Given the description of an element on the screen output the (x, y) to click on. 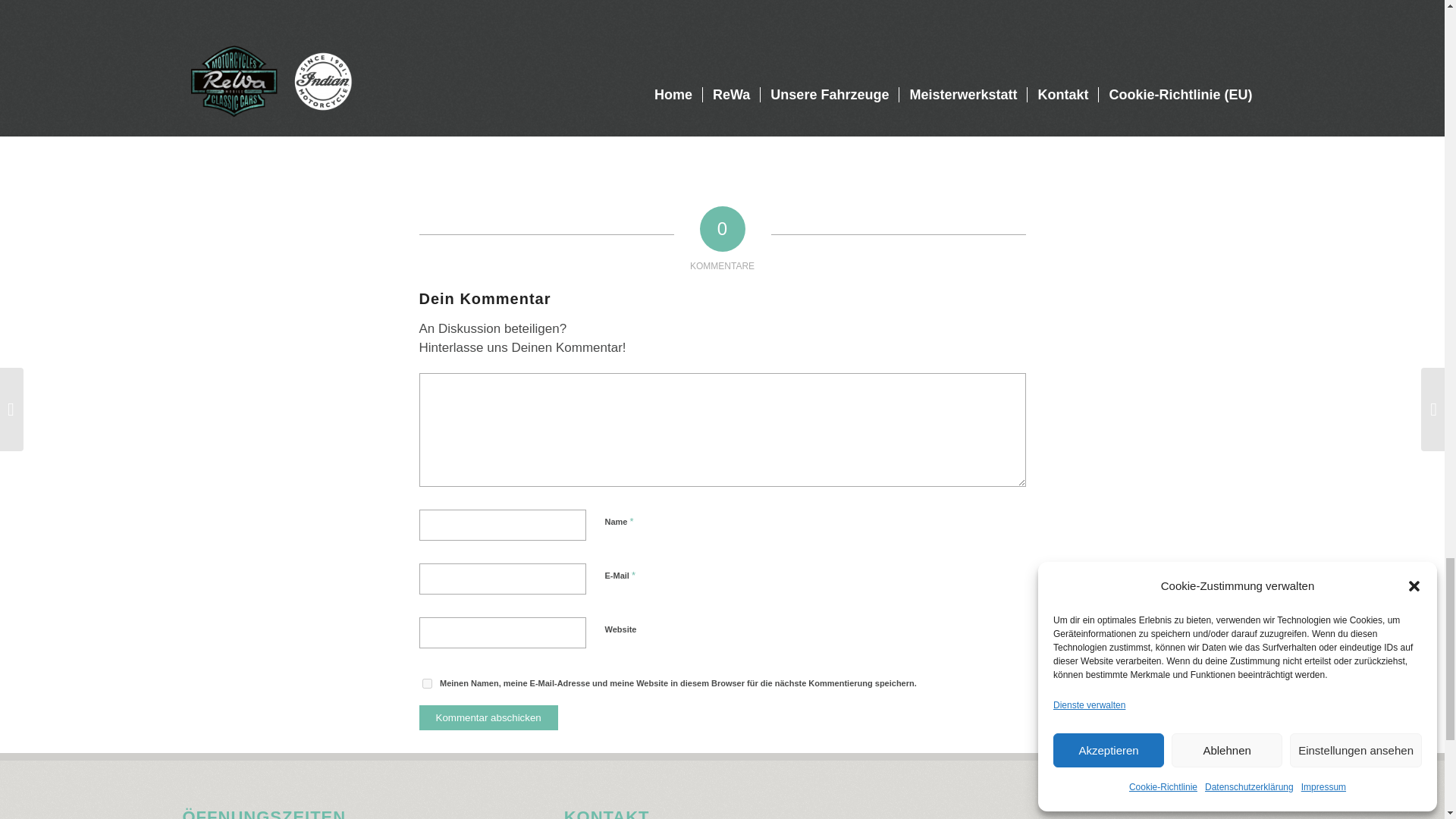
Kommentar abschicken (488, 717)
Kommentar abschicken (488, 717)
yes (426, 683)
